Given the description of an element on the screen output the (x, y) to click on. 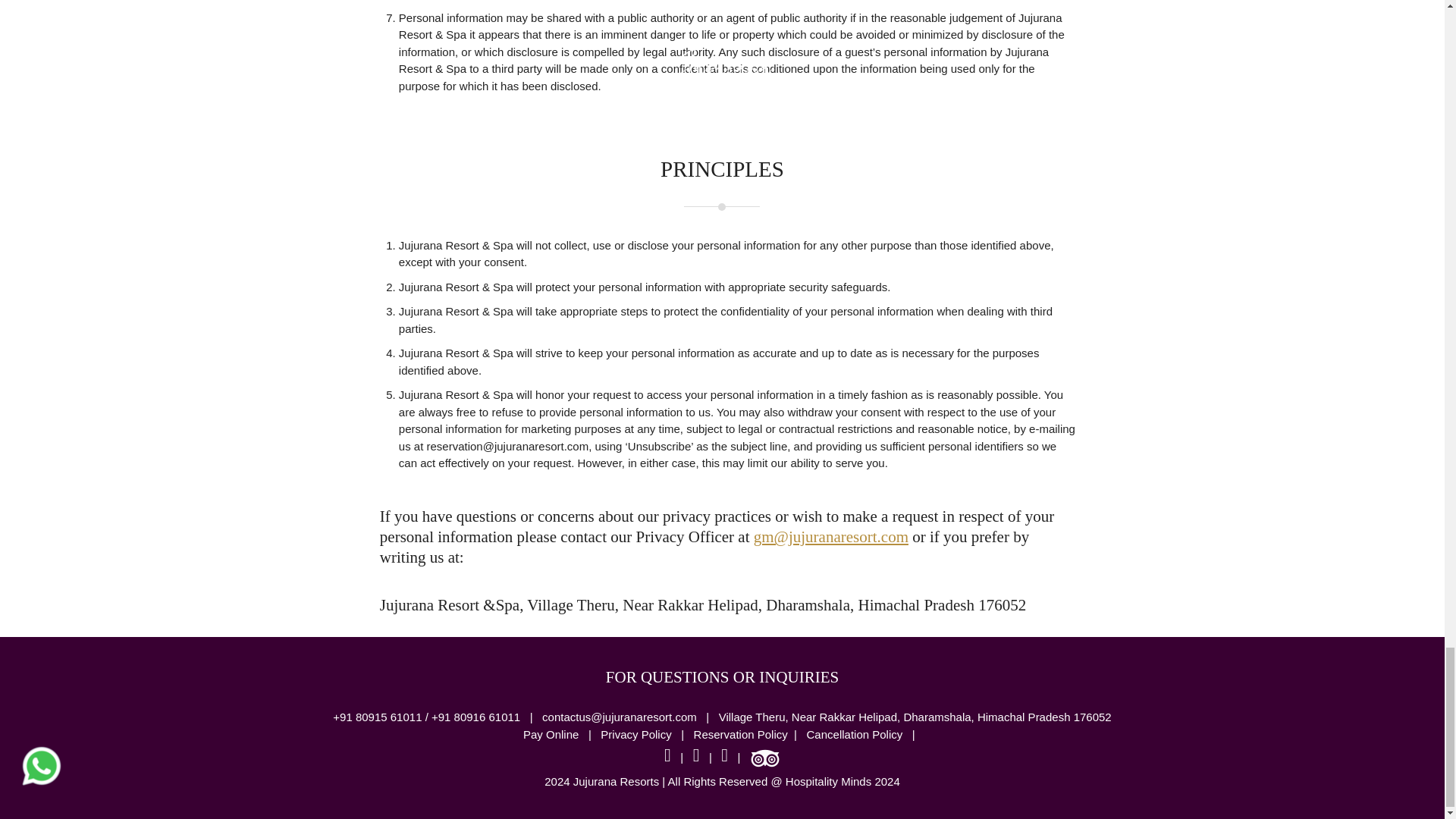
Hospitality Minds 2024 (842, 780)
Pay Online (552, 734)
Reservation Policy (740, 734)
Cancellation Policy (854, 734)
Privacy Policy (637, 734)
Tripadvisor (764, 757)
